Given the description of an element on the screen output the (x, y) to click on. 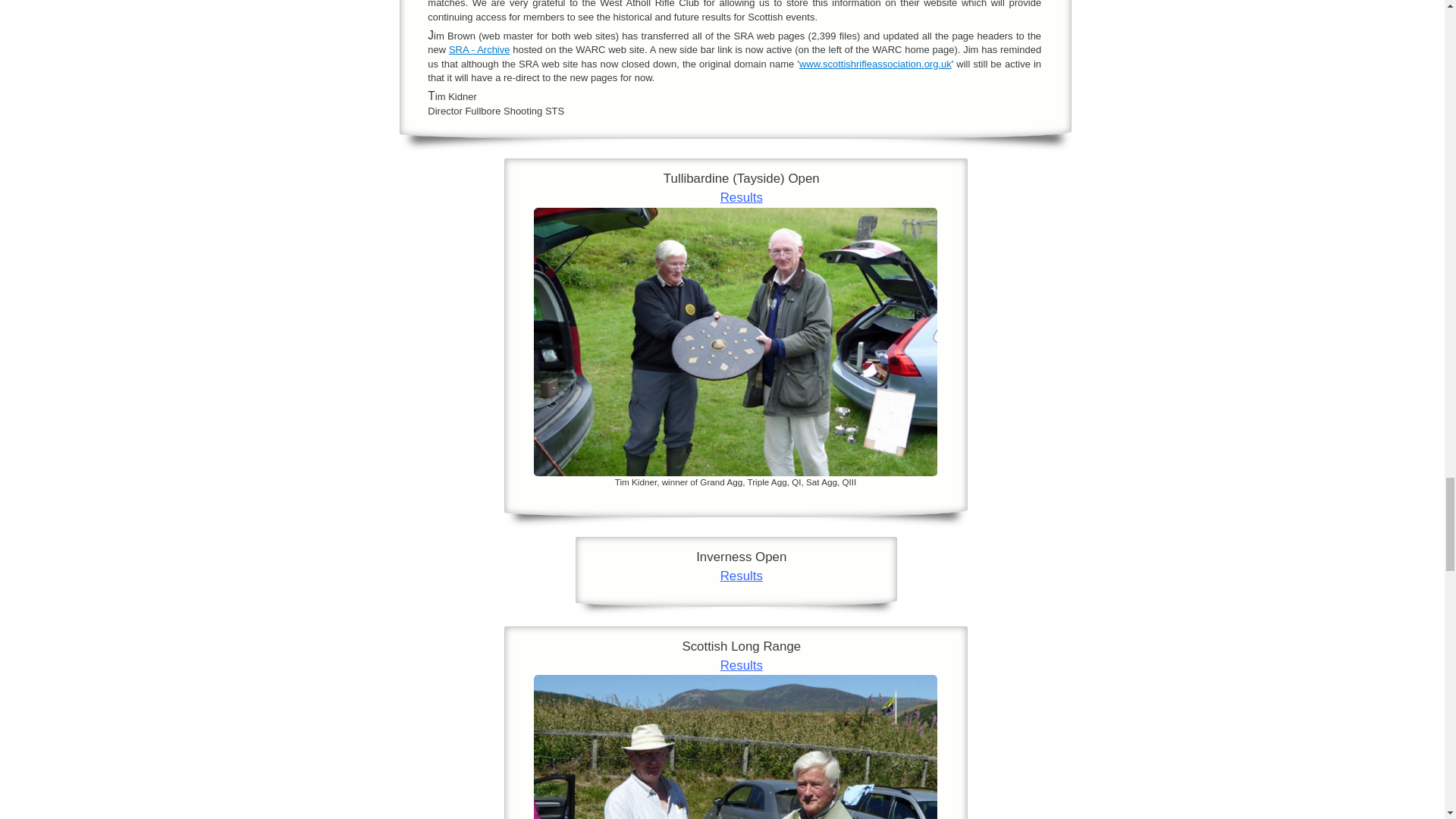
Results (741, 197)
Results (741, 665)
Results (741, 575)
SRA - Archive (479, 49)
www.scottishrifleassociation.org.uk (875, 63)
